Given the description of an element on the screen output the (x, y) to click on. 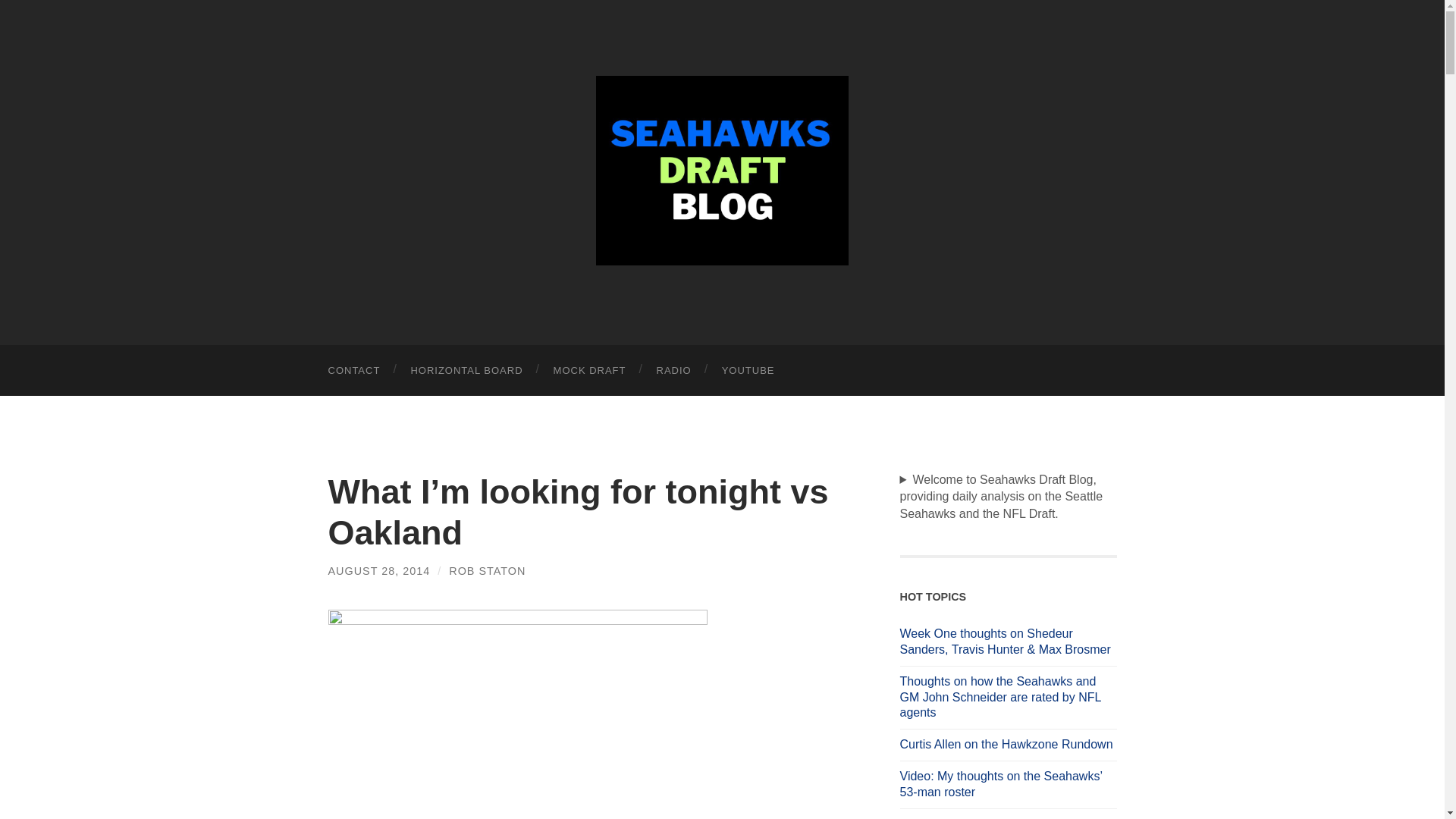
ROB STATON (486, 571)
HORIZONTAL BOARD (465, 369)
YOUTUBE (748, 369)
CONTACT (353, 369)
MOCK DRAFT (590, 369)
RADIO (674, 369)
Posts by Rob Staton (486, 571)
Curtis Allen on the Hawkzone Rundown (1007, 744)
AUGUST 28, 2014 (378, 571)
